Given the description of an element on the screen output the (x, y) to click on. 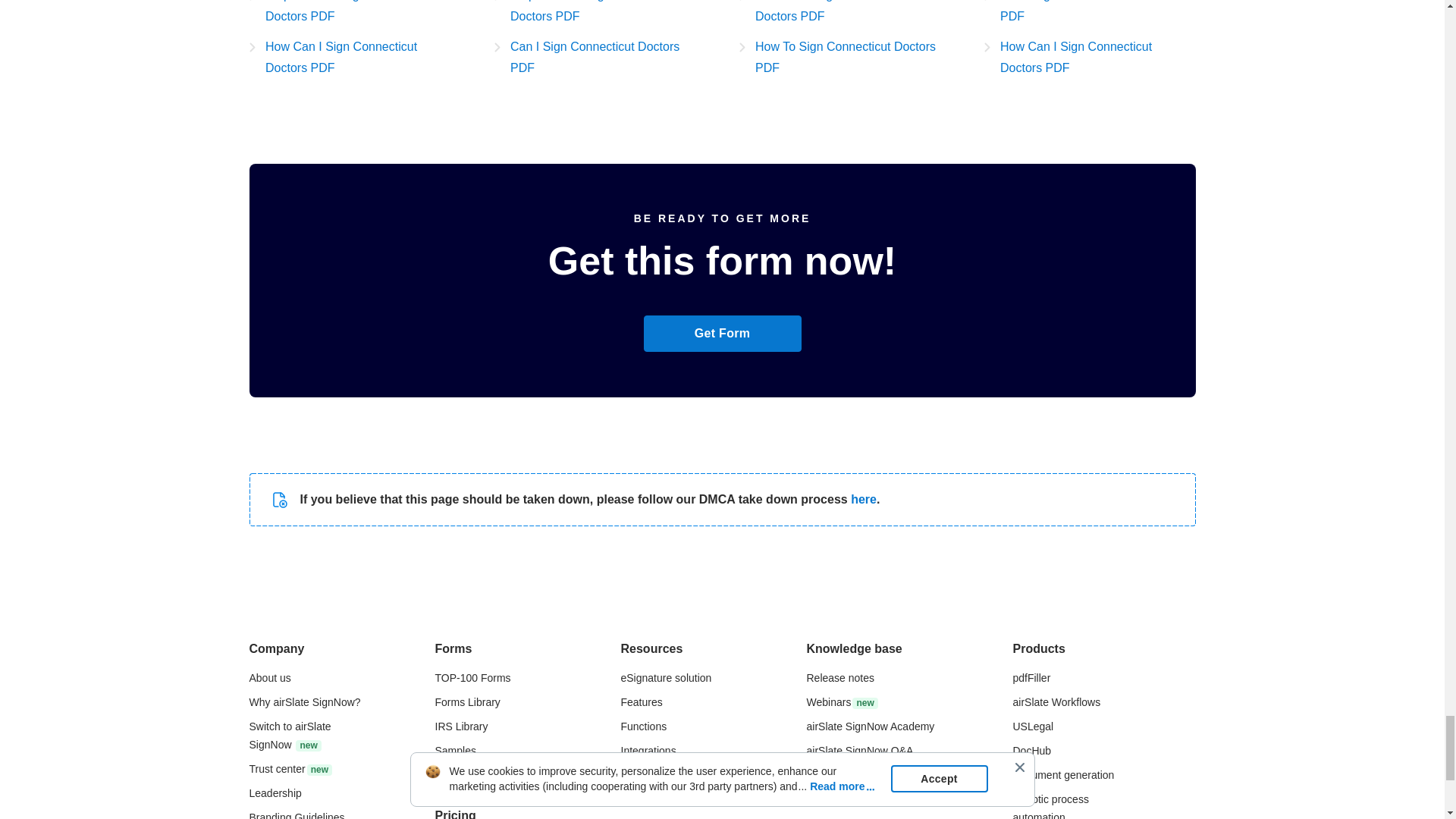
Help Me With Sign Connecticut Doctors PDF (600, 13)
Can I Sign Connecticut Doctors PDF (600, 57)
Go to the Why  airSlate signNow ? page (303, 702)
Help Me With Sign Connecticut Doctors PDF (354, 13)
Go to the  airSlate signNow  irs library page (461, 726)
Go to the top 100 forms page (473, 677)
Go to the trust center page (289, 768)
Go to the  airSlate signNow  templates page (459, 775)
How Can I Sign Connecticut Doctors PDF (354, 57)
Go to the Migrate page (289, 735)
Go to the  airSlate signNow  forms library page (467, 702)
Go to the Brand page (295, 815)
Go to the sample documents page (455, 750)
Go to the About Us page (268, 677)
Go to the leadership page (274, 793)
